Given the description of an element on the screen output the (x, y) to click on. 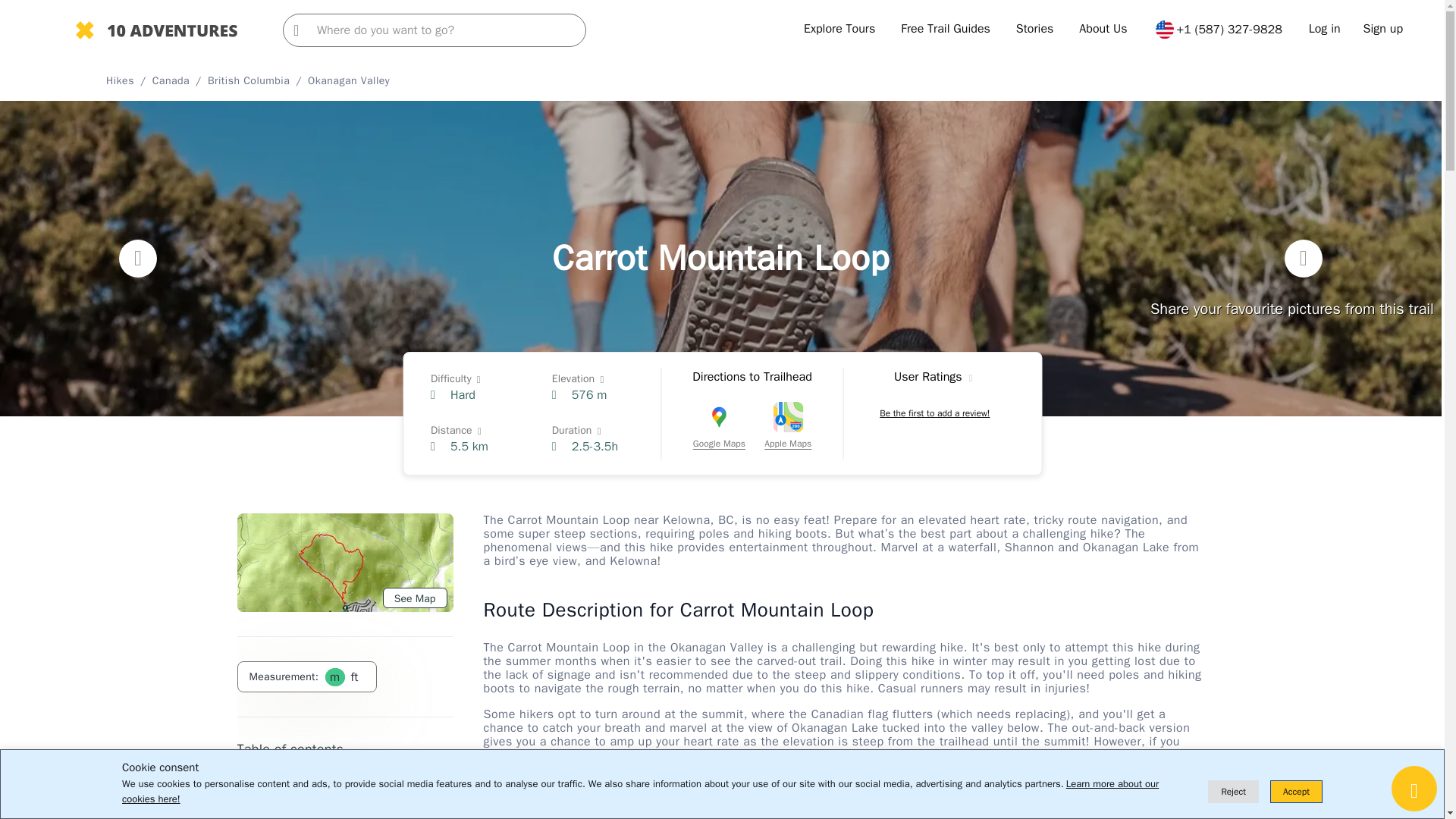
Hikes (119, 80)
Free Trail Guides (945, 28)
Log in (1324, 28)
About Us (1102, 28)
Route description (276, 779)
Google Maps (718, 428)
Sign up (1382, 28)
Getting there (266, 804)
Be the first to add a review! (934, 413)
imperial (353, 676)
Okanagan Valley (348, 80)
Stories (1034, 28)
Canada (170, 80)
See Map (413, 598)
metric (333, 676)
